Given the description of an element on the screen output the (x, y) to click on. 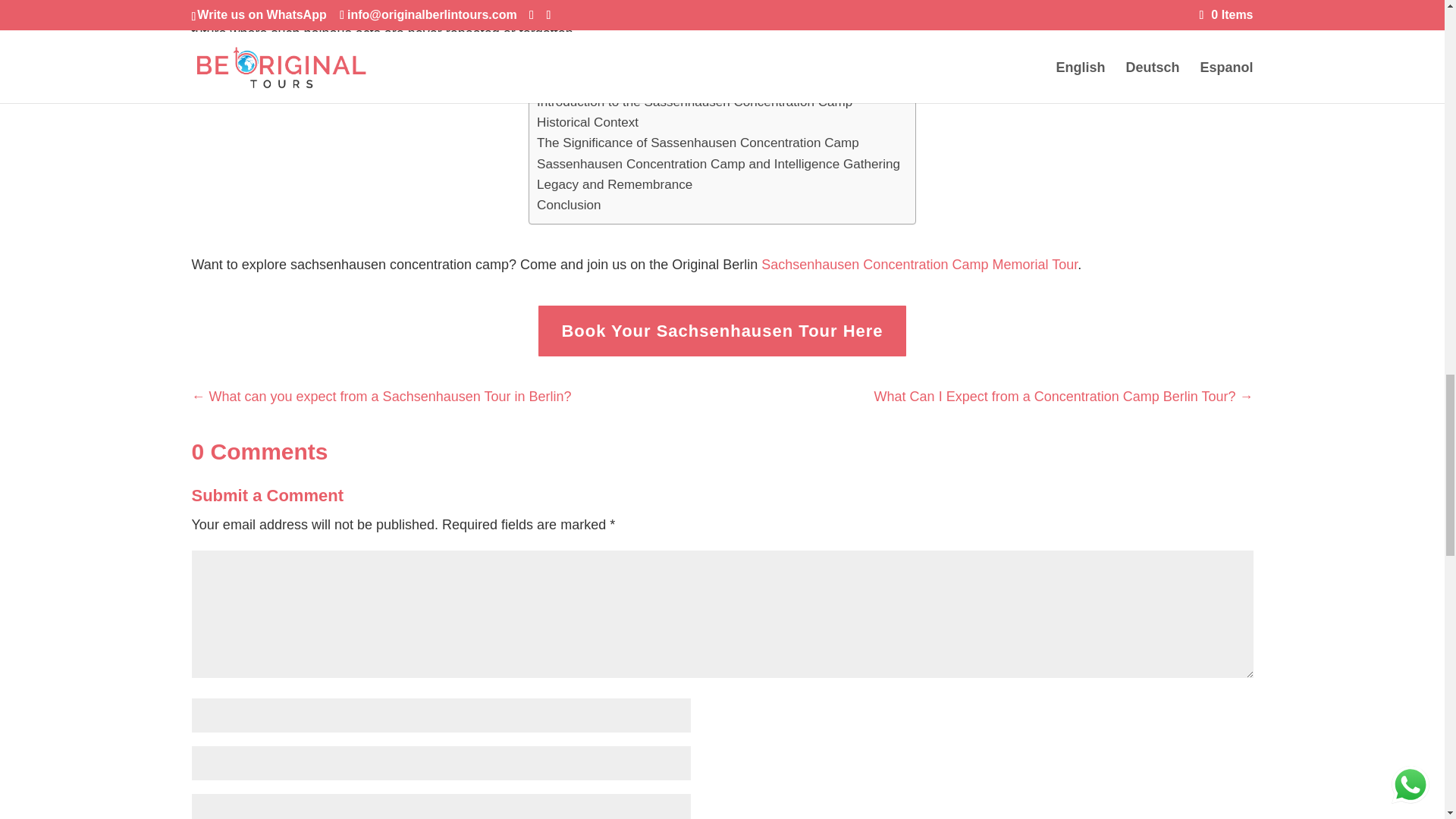
Sassenhausen Concentration Camp and Intelligence Gathering (718, 163)
Introduction to the Sassenhausen Concentration Camp (694, 101)
The Significance of Sassenhausen Concentration Camp (698, 142)
Historical Context (588, 122)
Introduction to the Sassenhausen Concentration Camp (694, 101)
Historical Context (588, 122)
Legacy and Remembrance (615, 184)
The Significance of Sassenhausen Concentration Camp (698, 142)
Conclusion (569, 204)
Conclusion (569, 204)
Sachsenhausen Concentration Camp Memorial Tour (919, 264)
Book Your Sachsenhausen Tour Here (721, 330)
Legacy and Remembrance (615, 184)
Sassenhausen Concentration Camp and Intelligence Gathering (718, 163)
